Given the description of an element on the screen output the (x, y) to click on. 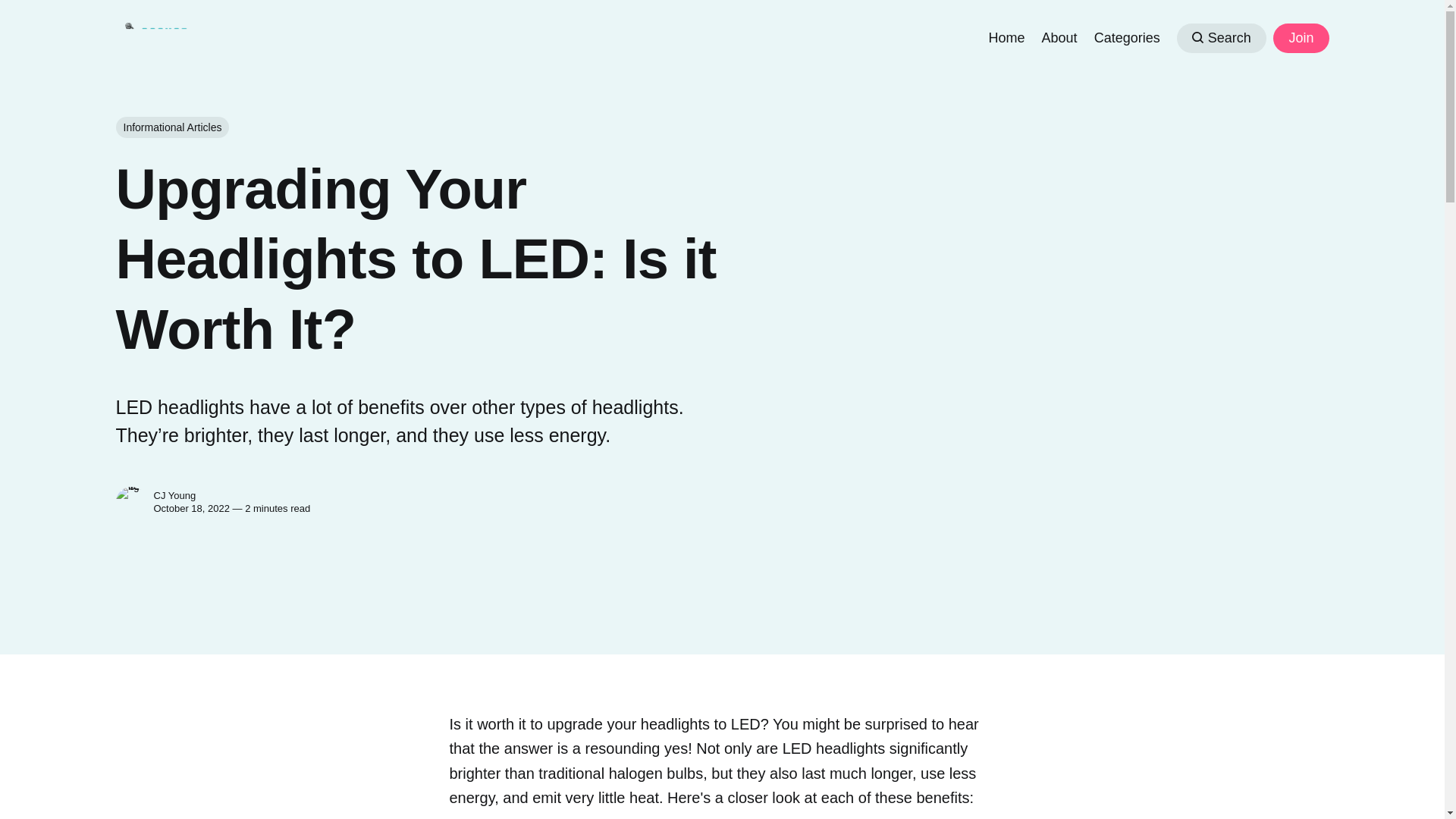
Informational Articles (171, 127)
Home (1006, 37)
Join (1299, 37)
CJ Young (173, 495)
About (1059, 37)
CJ Young (130, 501)
Categories (1127, 37)
